Given the description of an element on the screen output the (x, y) to click on. 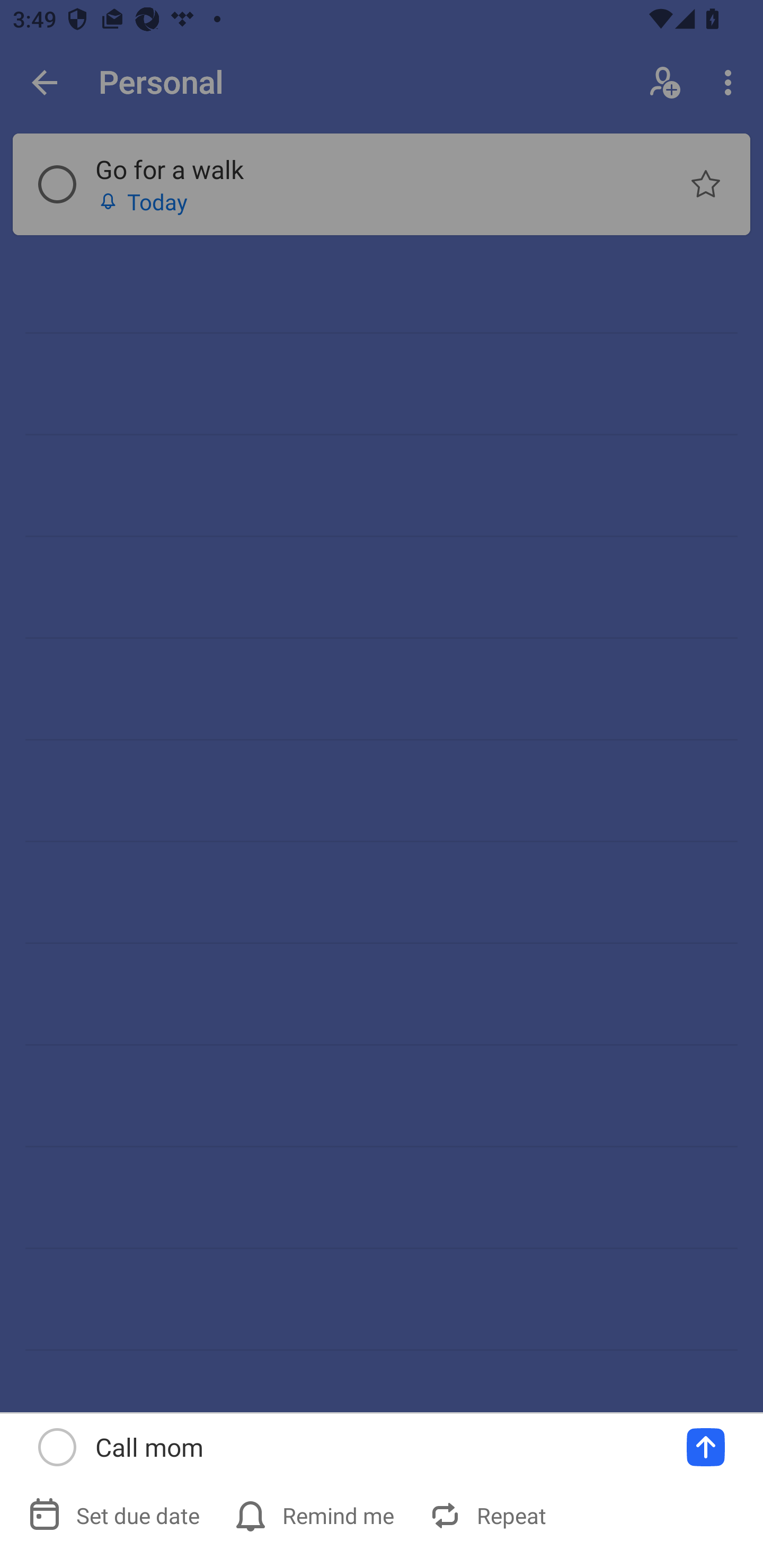
Remind me (315, 1515)
